Given the description of an element on the screen output the (x, y) to click on. 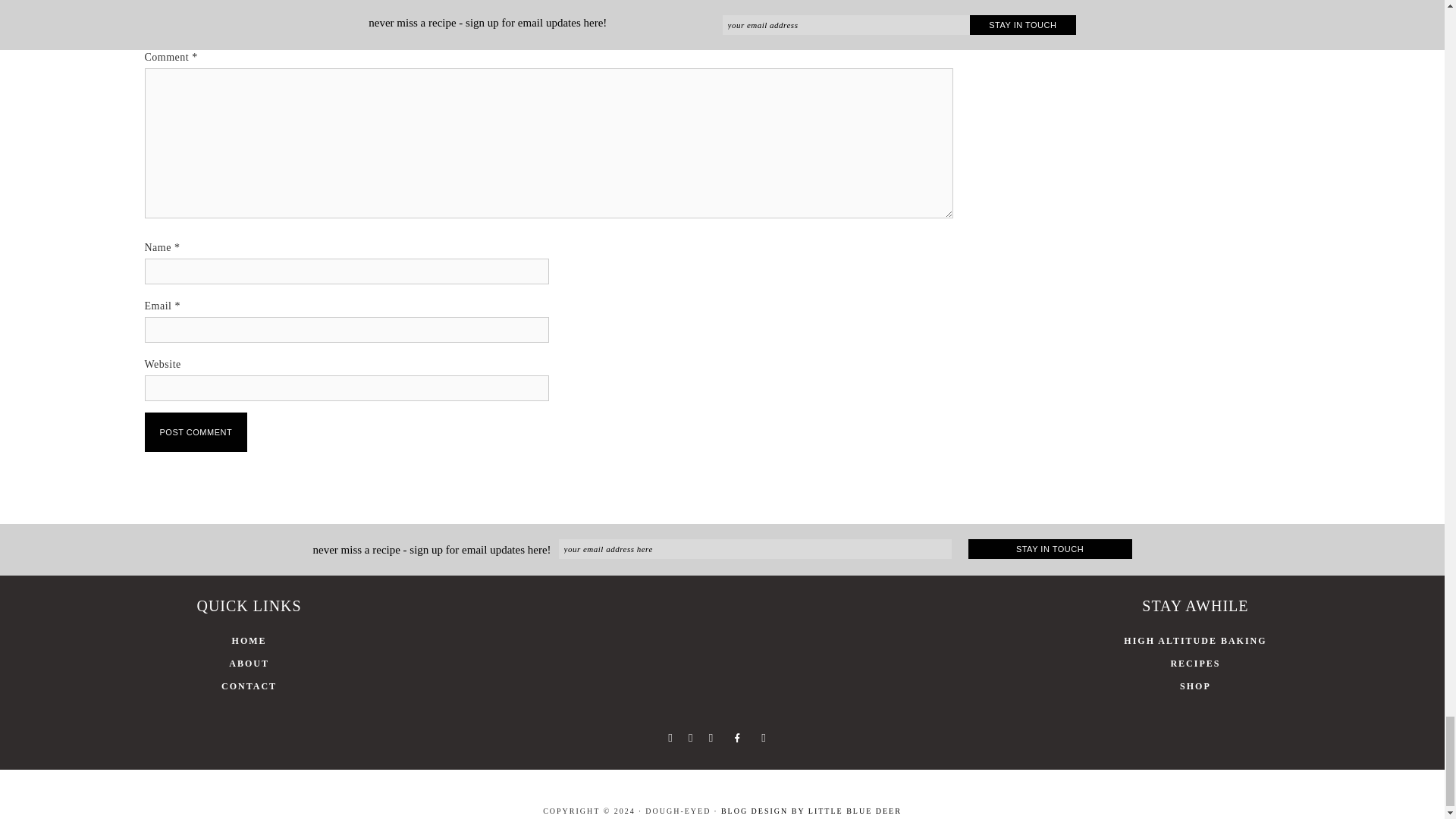
Stay in Touch (1049, 548)
Twitter (689, 736)
Instagram (710, 736)
Post Comment (195, 432)
Facebook (669, 736)
